Given the description of an element on the screen output the (x, y) to click on. 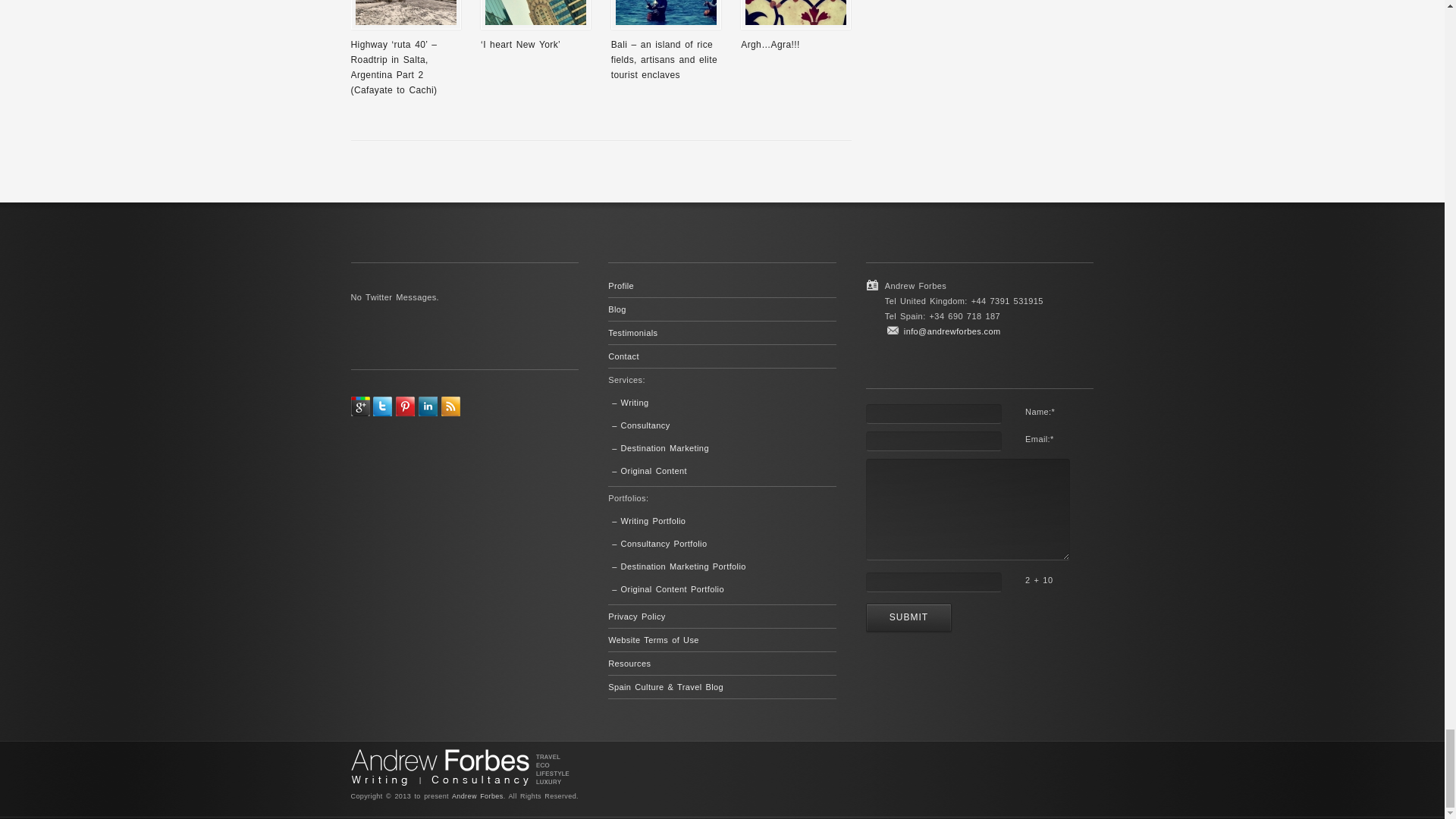
Submit (909, 617)
